Given the description of an element on the screen output the (x, y) to click on. 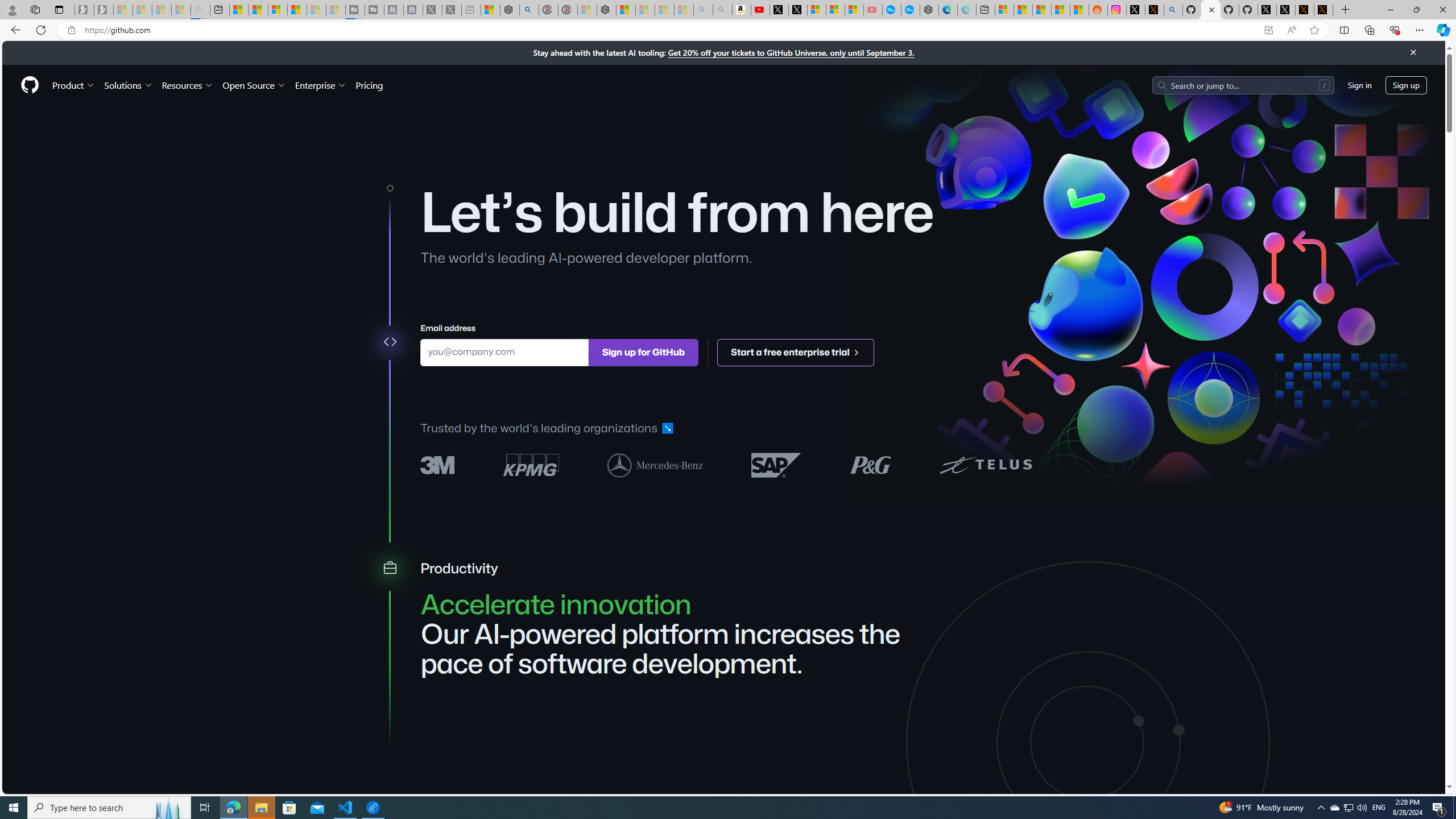
Sign up for GitHub (643, 352)
Overview (277, 9)
SAP logo (776, 464)
App available. Install GitHub (1268, 29)
